Given the description of an element on the screen output the (x, y) to click on. 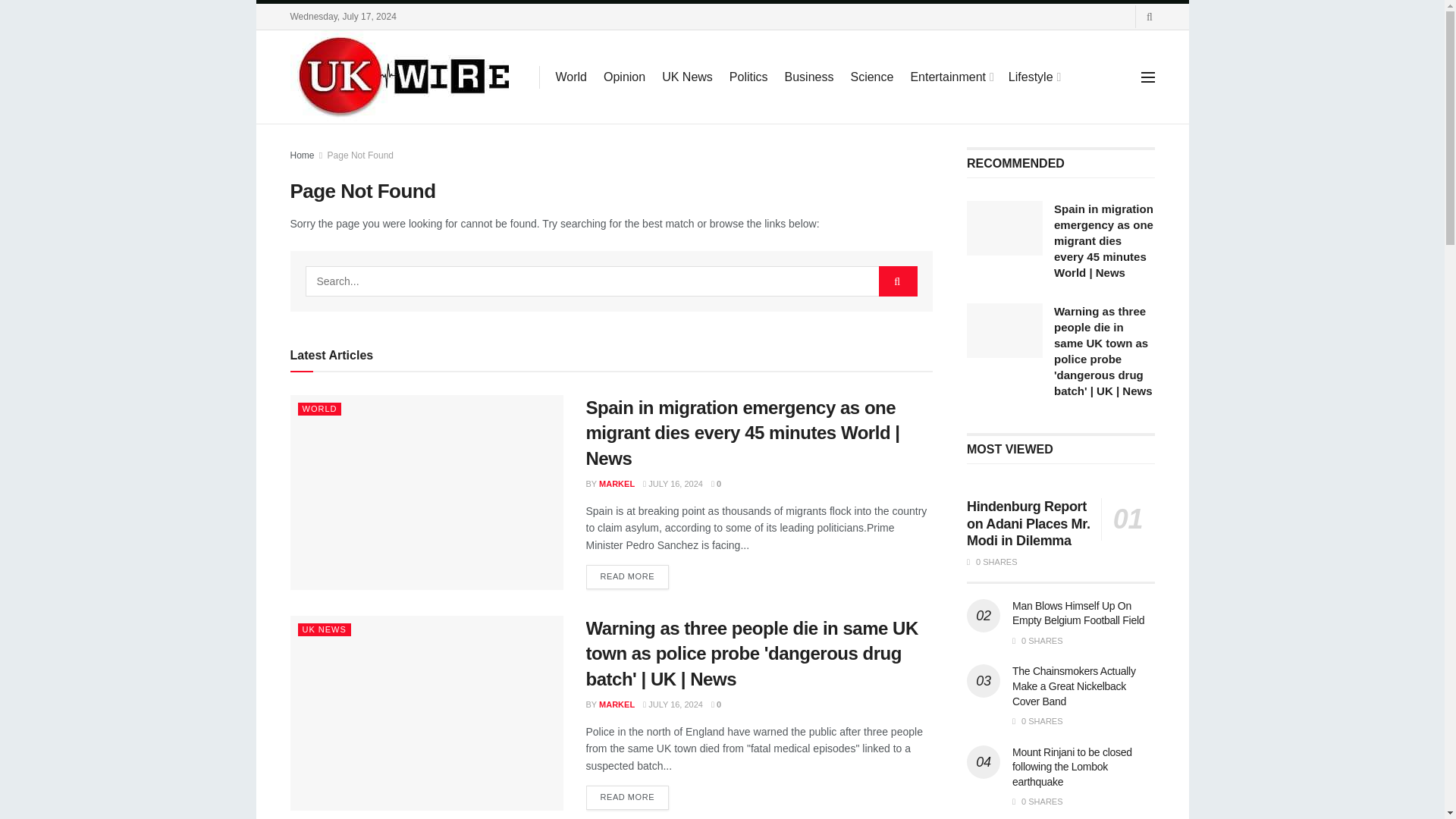
Entertainment (950, 76)
Opinion (624, 76)
Politics (748, 76)
World (570, 76)
Business (809, 76)
Lifestyle (1034, 76)
Science (871, 76)
UK News (687, 76)
